Given the description of an element on the screen output the (x, y) to click on. 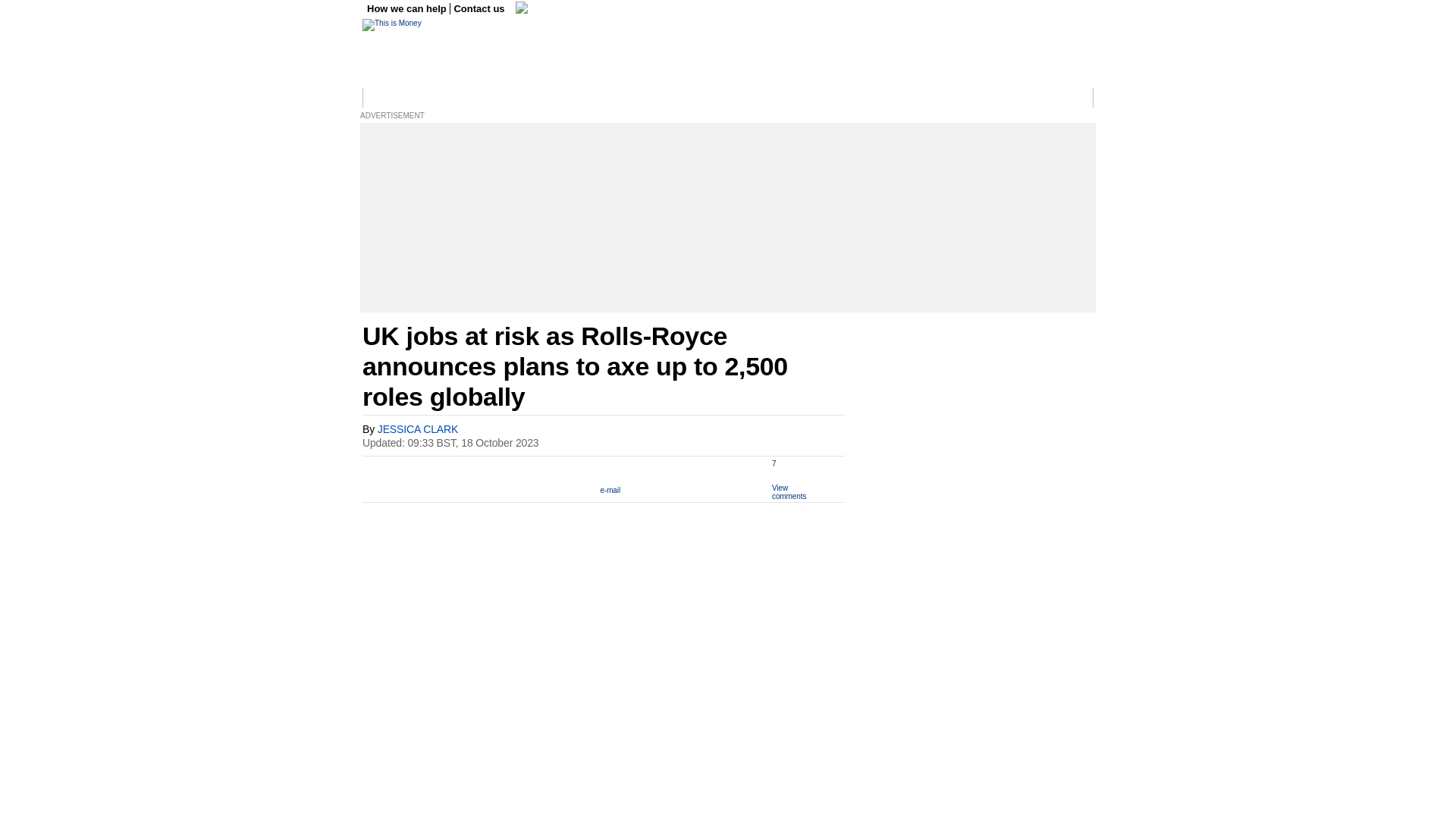
How we can help (407, 8)
Login (1075, 97)
Investing (582, 97)
Money Home (395, 97)
Contact us (479, 8)
Pensions (822, 97)
Mortgages (873, 97)
Business (450, 97)
Buy-to-let (925, 97)
Cars (714, 97)
